Given the description of an element on the screen output the (x, y) to click on. 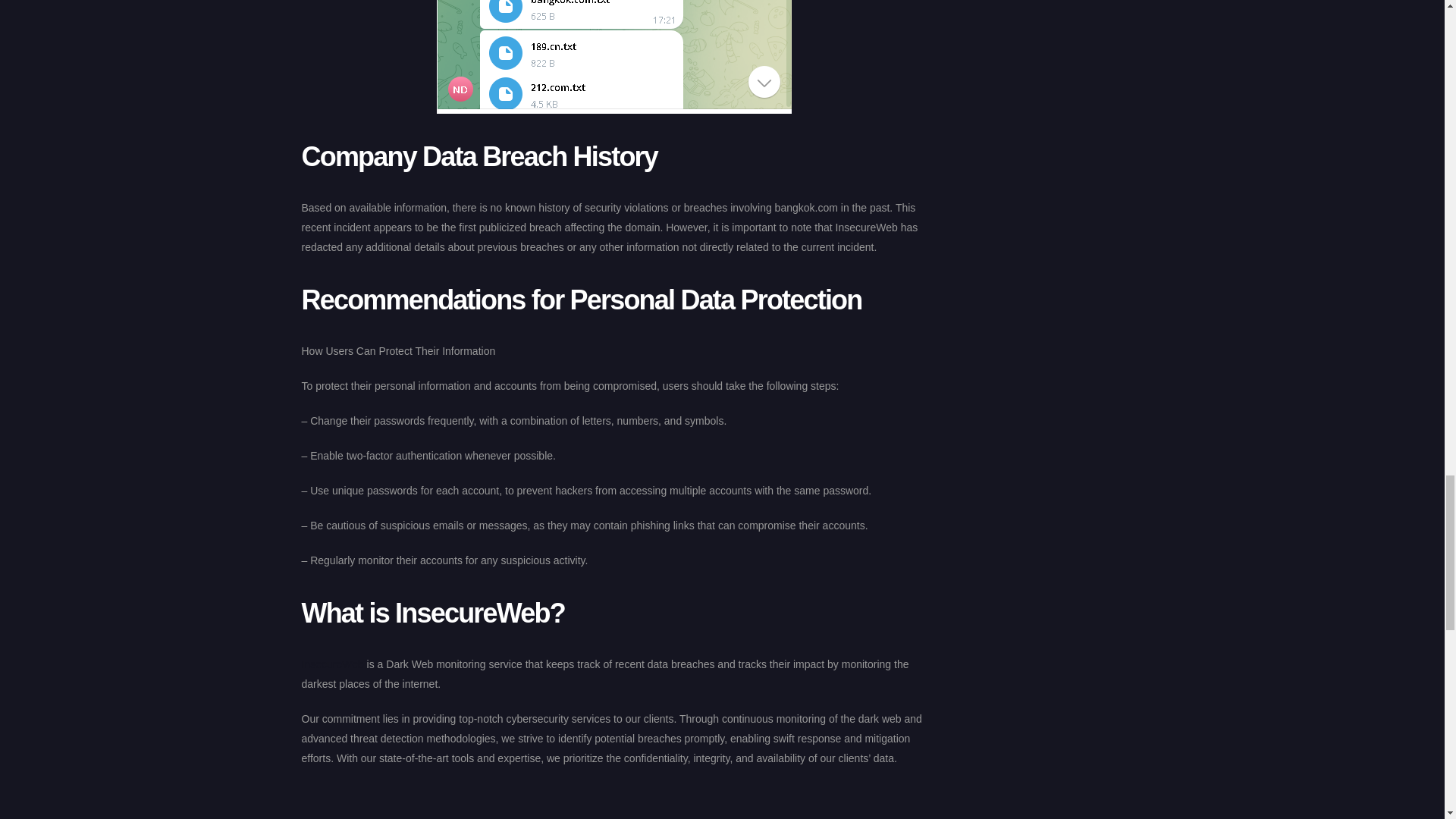
YouTube video player (614, 806)
InsecureWeb Detects Security Breach at Bangkok.com (614, 56)
InsecureWeb (332, 664)
